Given the description of an element on the screen output the (x, y) to click on. 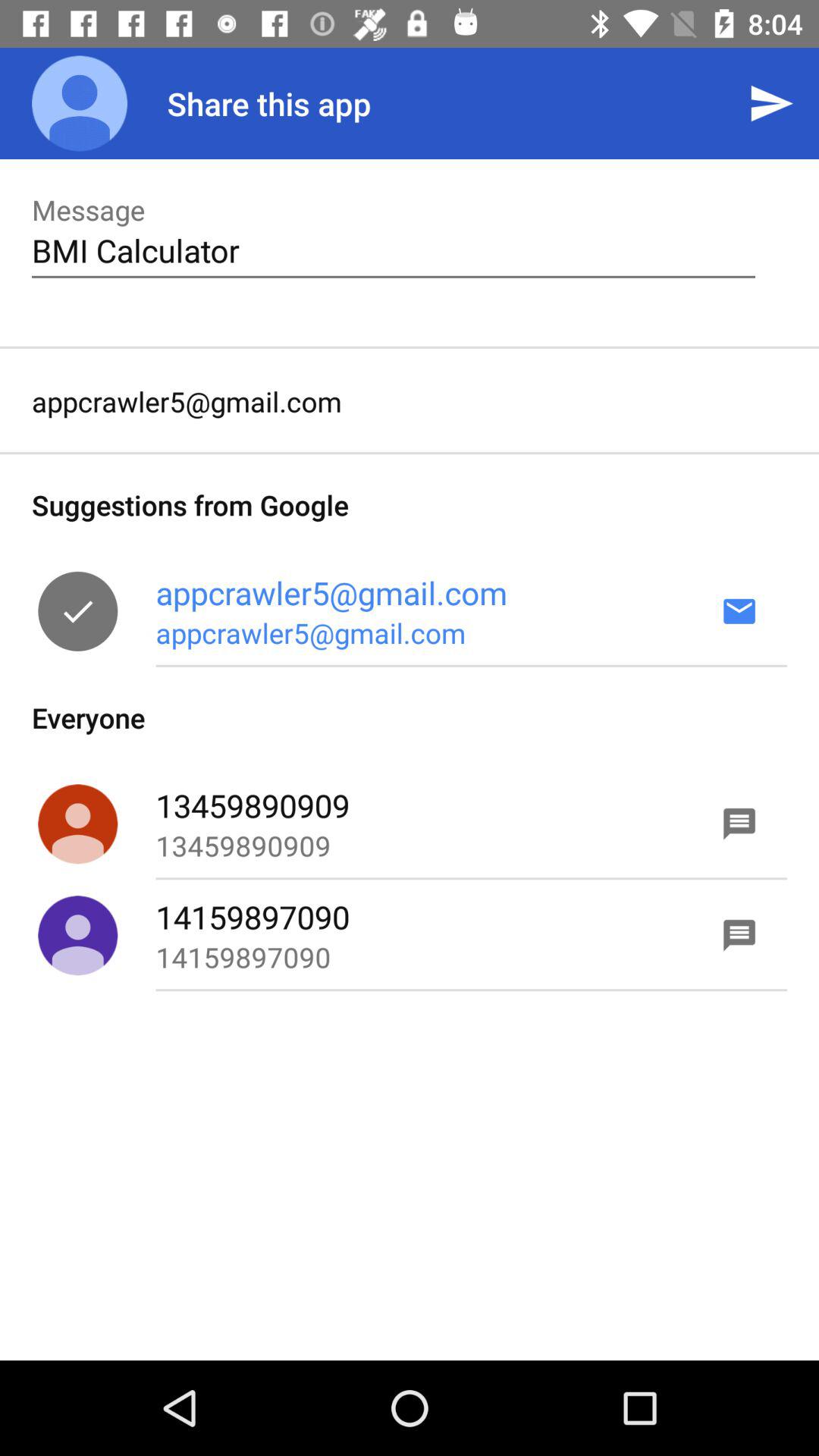
open the icon at the top right corner (771, 103)
